Given the description of an element on the screen output the (x, y) to click on. 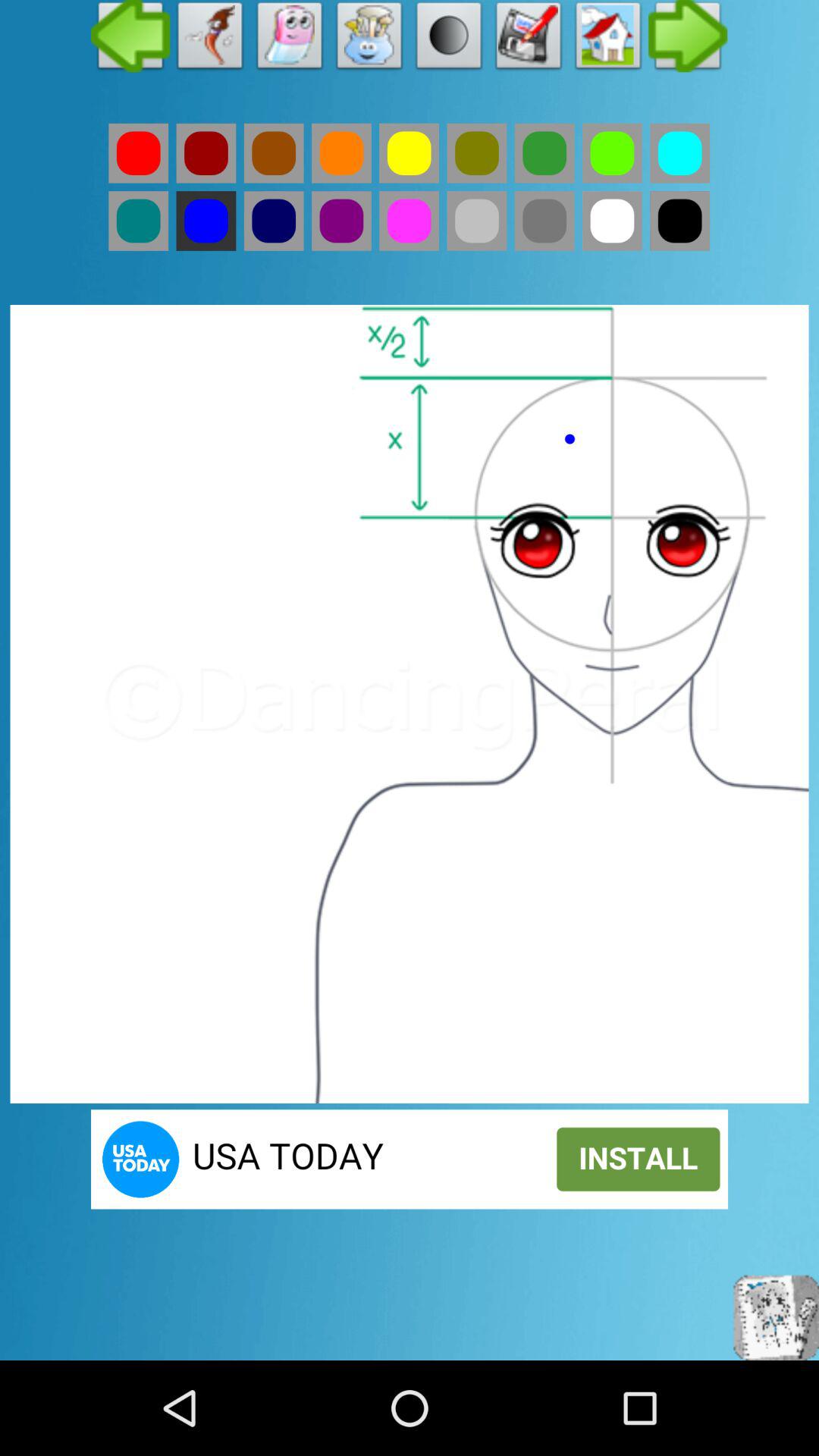
color option (273, 153)
